Given the description of an element on the screen output the (x, y) to click on. 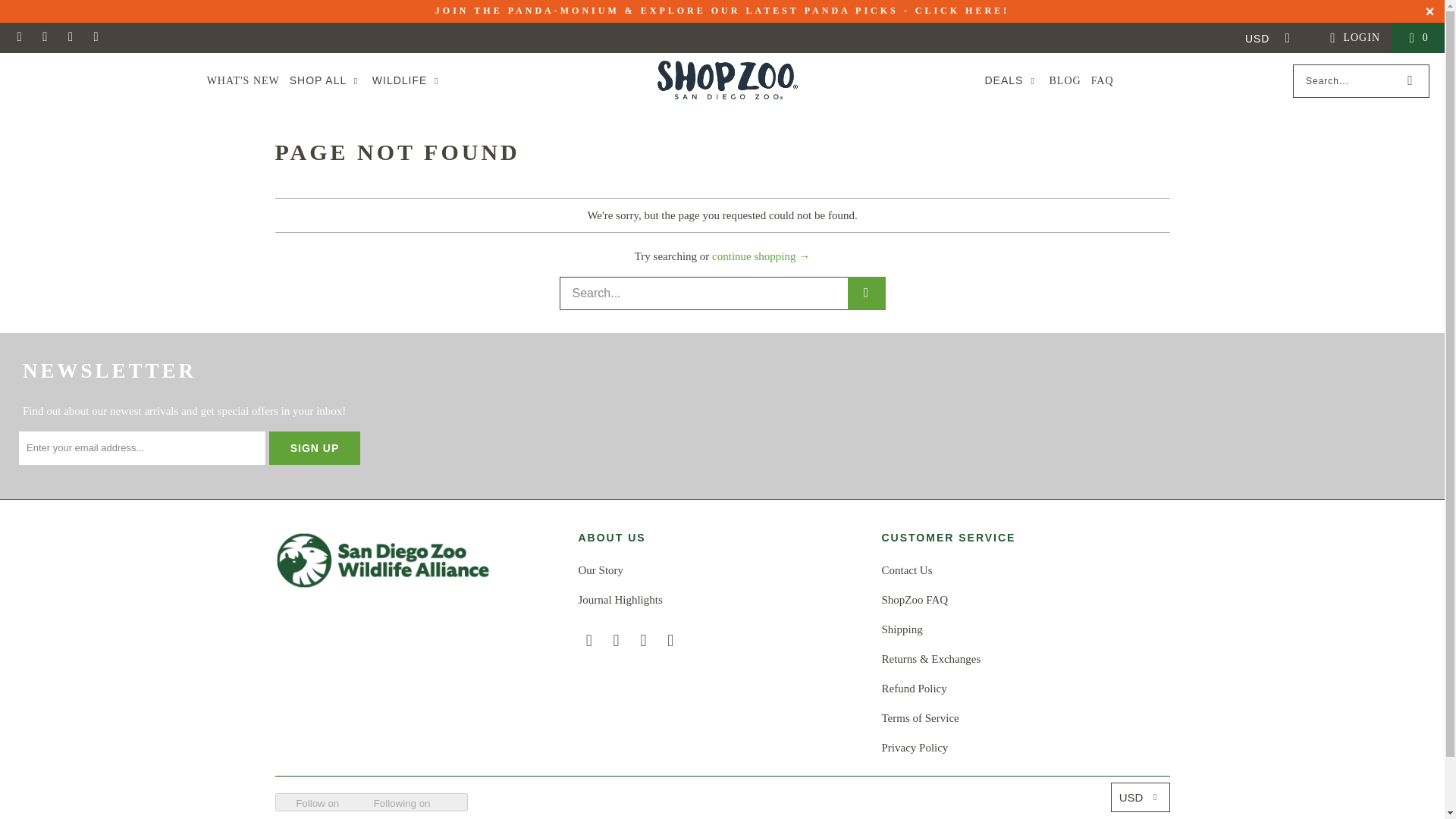
ShopZoo on Pinterest (69, 37)
Panda (722, 9)
Sign Up (314, 447)
ShopZoo on Pinterest (643, 639)
ShopZoo on Instagram (44, 37)
ShopZoo (727, 80)
ShopZoo on Facebook (18, 37)
ShopZoo on Twitter (670, 639)
ShopZoo on Facebook (588, 639)
ShopZoo on Twitter (95, 37)
